Given the description of an element on the screen output the (x, y) to click on. 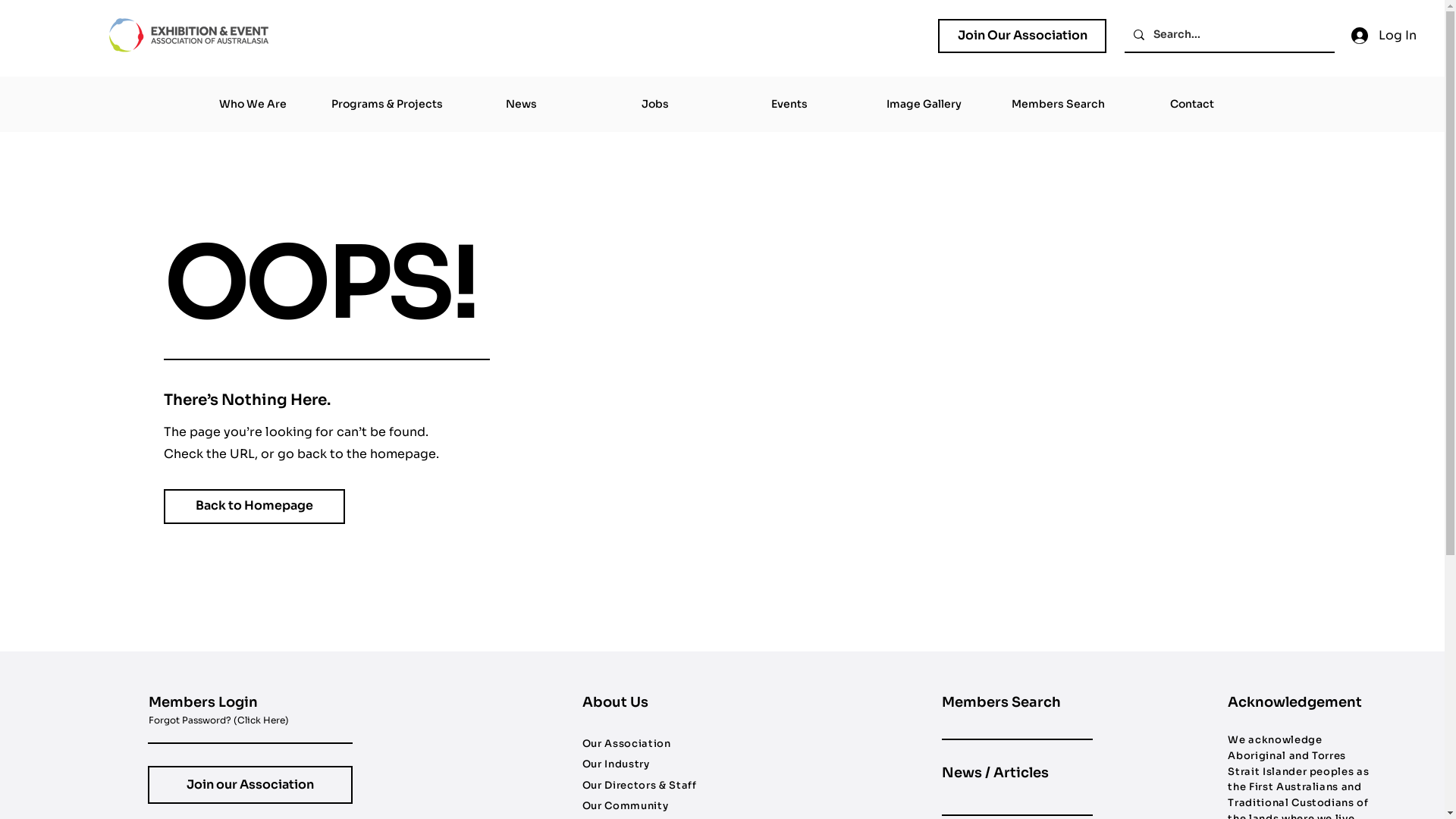
Join Our Association Element type: text (1022, 35)
Join our Association Element type: text (249, 784)
News Element type: text (520, 104)
Back to Homepage Element type: text (254, 506)
Our Directors & Staff Element type: text (639, 784)
Our Association Element type: text (626, 743)
Members Search Element type: text (1057, 104)
Contact Element type: text (1192, 104)
Log In Element type: text (1382, 35)
Events Element type: text (788, 104)
Our Industry Element type: text (615, 763)
News / Articles Element type: text (994, 772)
Members Search Element type: text (1000, 701)
Our Community Element type: text (625, 805)
Image Gallery Element type: text (923, 104)
